Given the description of an element on the screen output the (x, y) to click on. 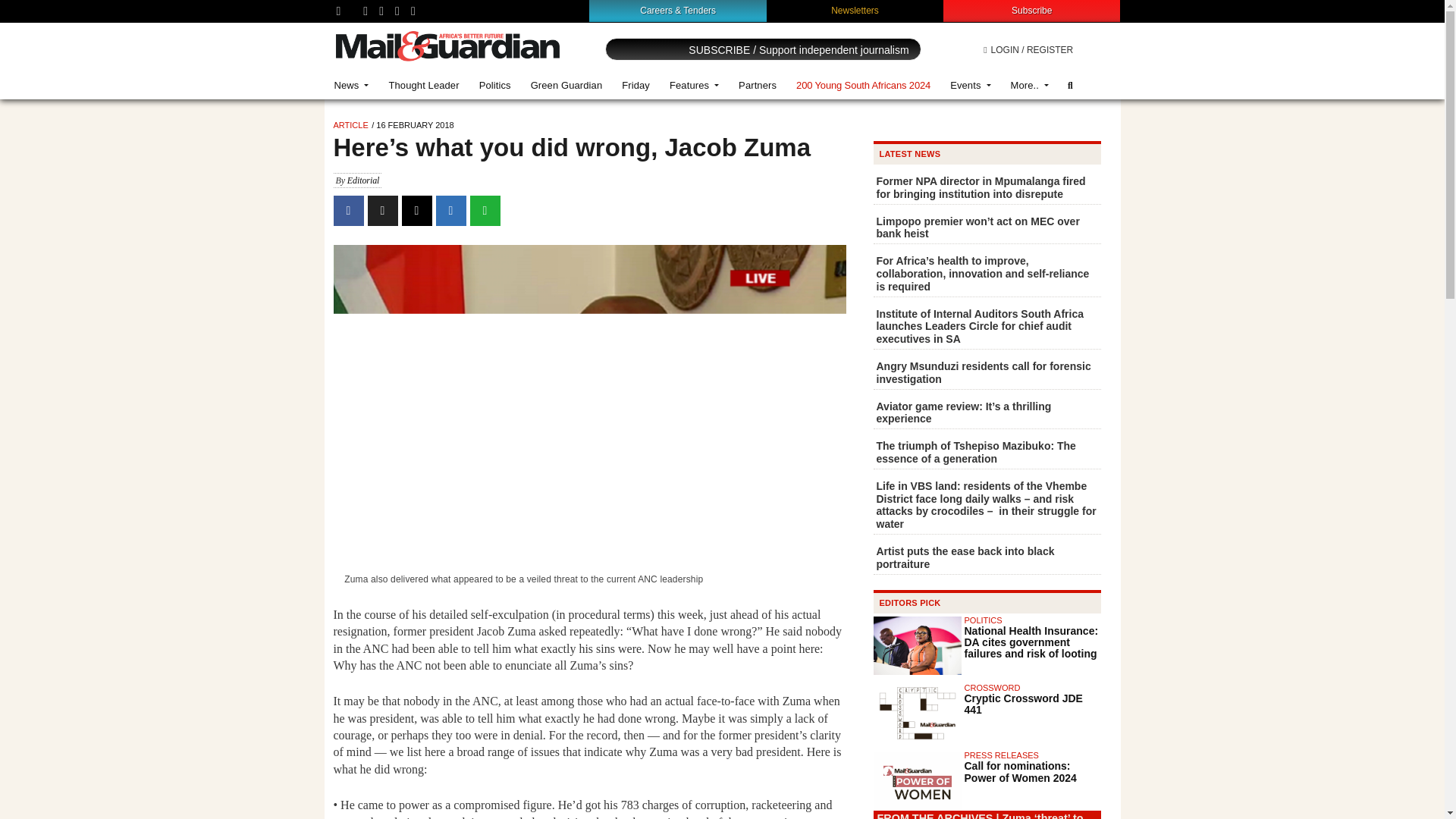
Politics (494, 85)
News (351, 85)
Subscribe (1031, 9)
Green Guardian (566, 85)
Features (694, 85)
Friday (635, 85)
News (351, 85)
Thought Leader (423, 85)
Newsletters (855, 9)
